Given the description of an element on the screen output the (x, y) to click on. 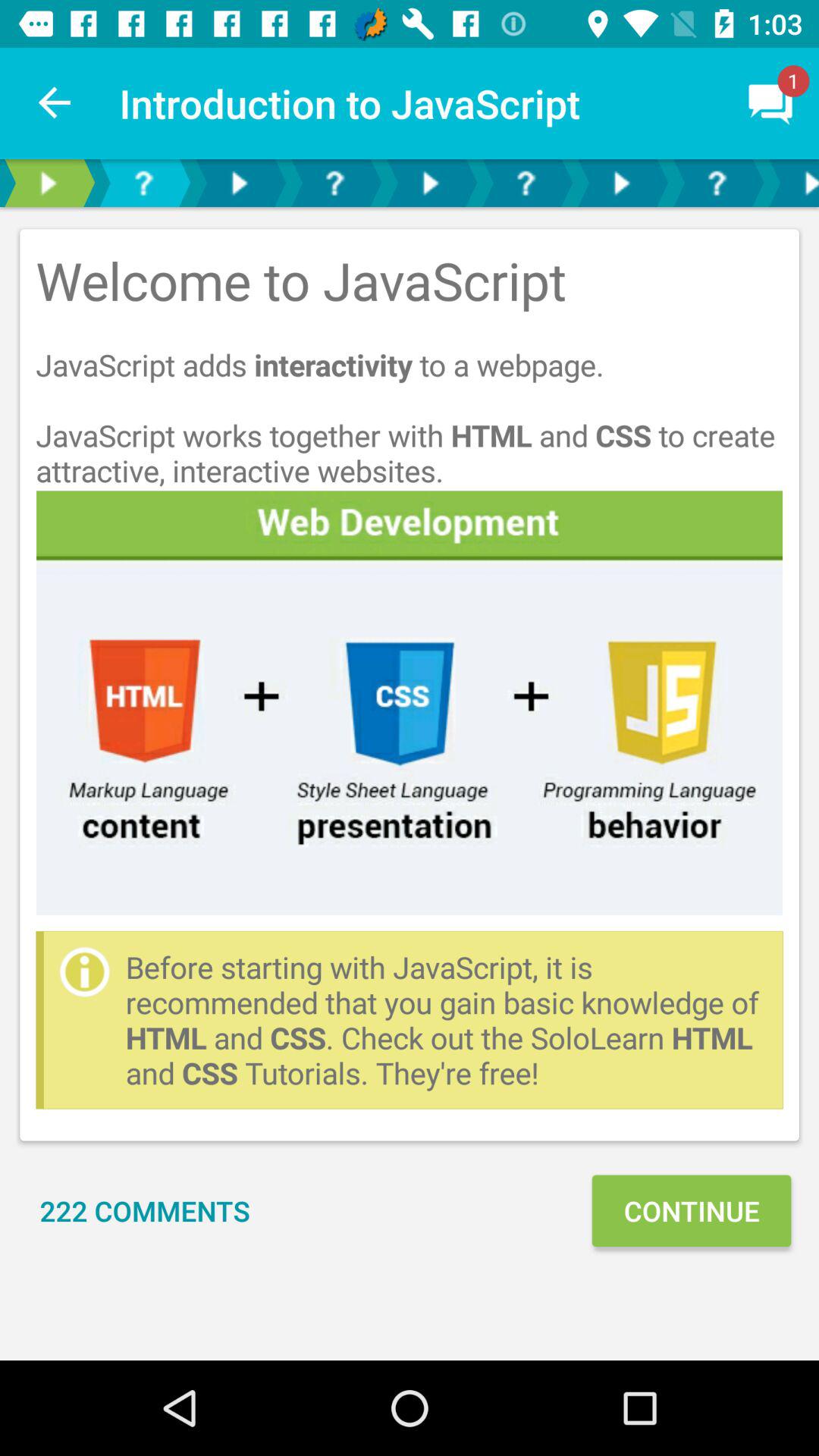
open the before starting with icon (446, 1019)
